Given the description of an element on the screen output the (x, y) to click on. 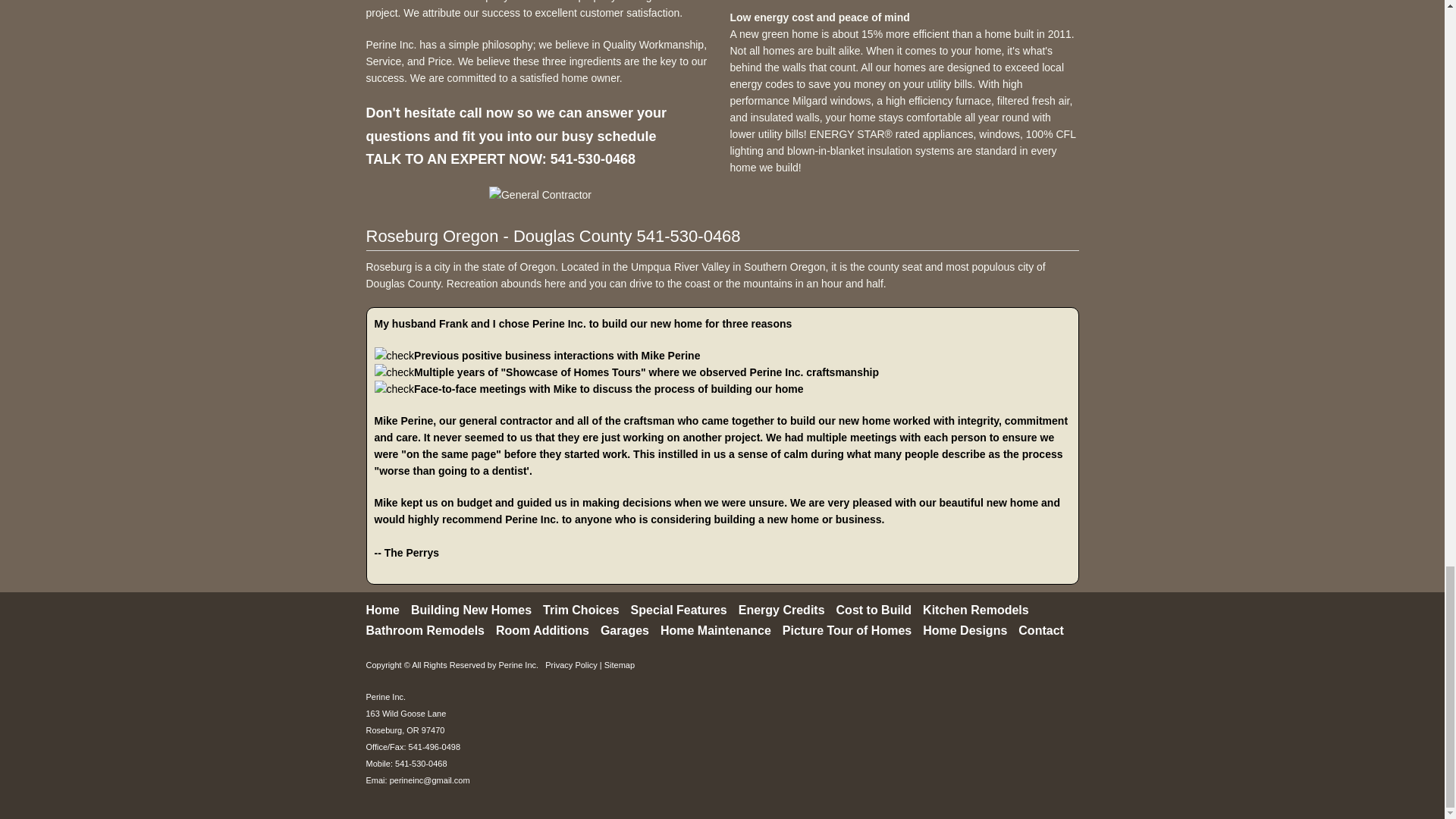
Trim Choices (580, 609)
Kitchen Remodels (976, 609)
Privacy Policy (570, 664)
Bathroom Remodels (424, 629)
Room Additions (542, 629)
Contact (1040, 629)
Picture Tour of Homes (847, 629)
Cost to Build (873, 609)
Garages (624, 629)
Sitemap (619, 664)
